Given the description of an element on the screen output the (x, y) to click on. 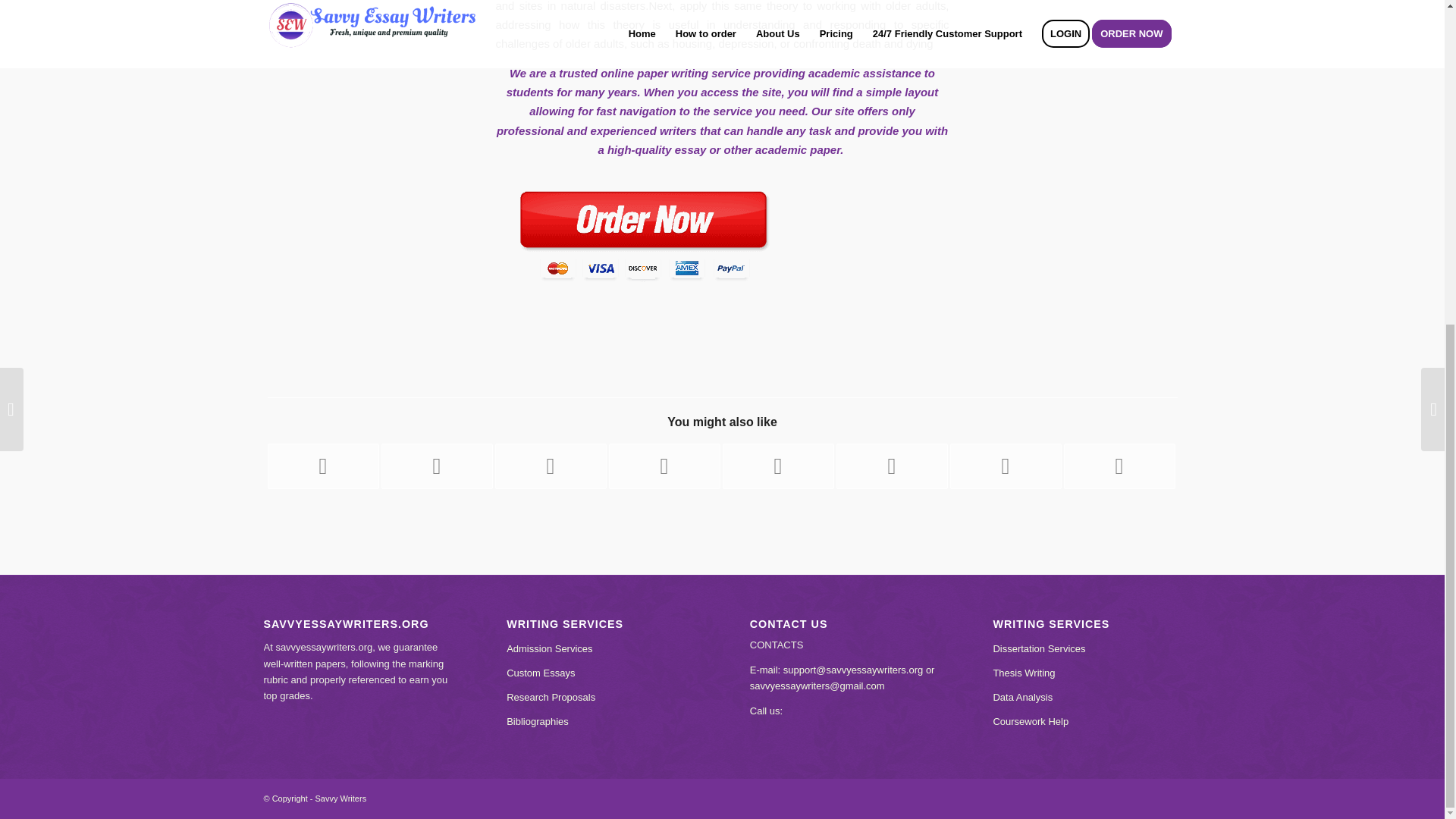
experienced writers (644, 130)
Custom Essays (540, 672)
high-quality essay (656, 149)
Coursework Help (1030, 721)
academic assistance (864, 72)
many years (606, 91)
Research Proposals (550, 696)
Data Analysis (1022, 696)
Thesis Writing (1023, 672)
Bibliographies (537, 721)
Dissertation Services (1038, 648)
Admission Services (549, 648)
fast navigation (634, 110)
Call us: (766, 710)
E-mail: (766, 669)
